Given the description of an element on the screen output the (x, y) to click on. 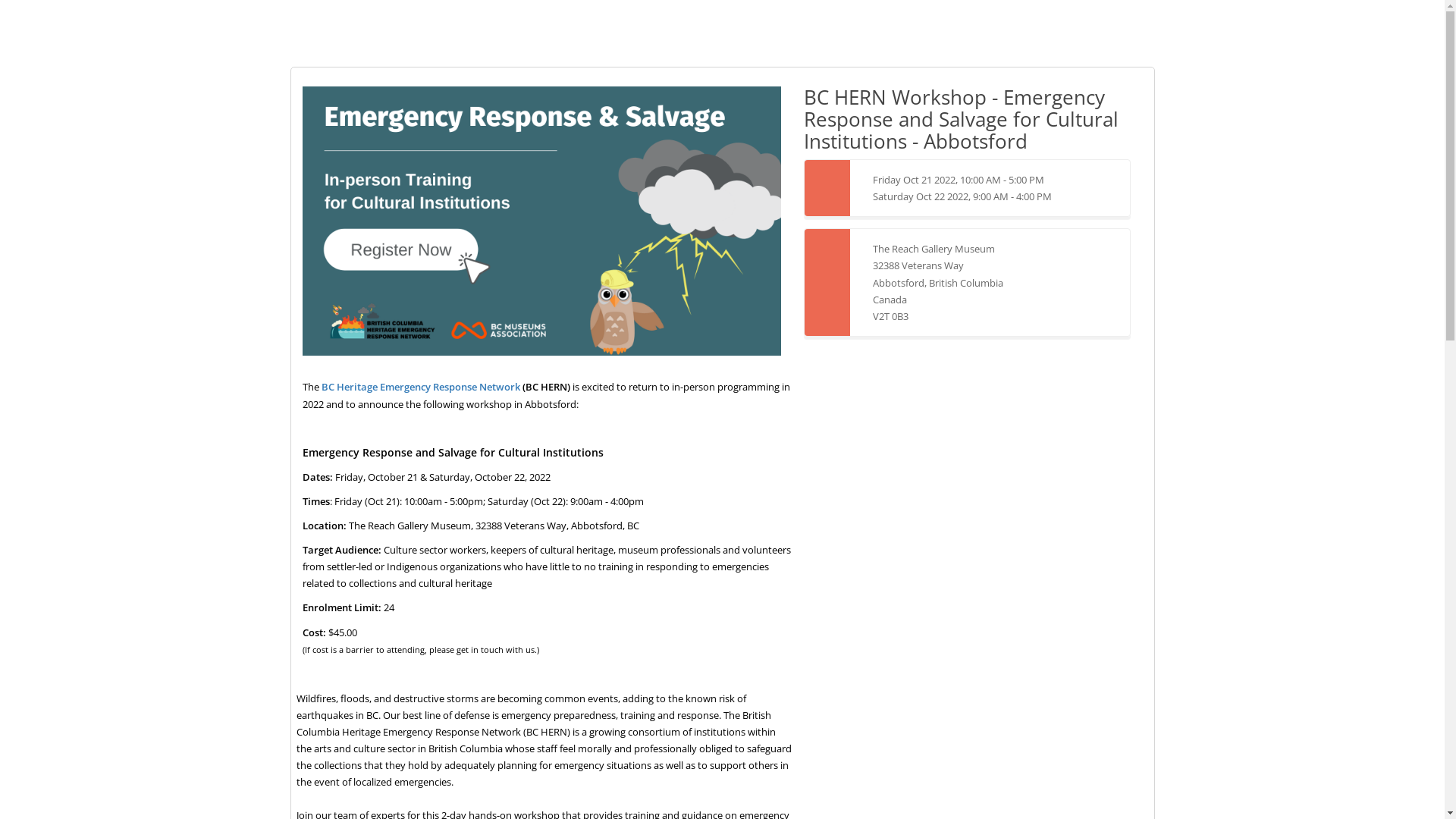
BC Heritage Emergency Response Network Element type: text (420, 386)
